Given the description of an element on the screen output the (x, y) to click on. 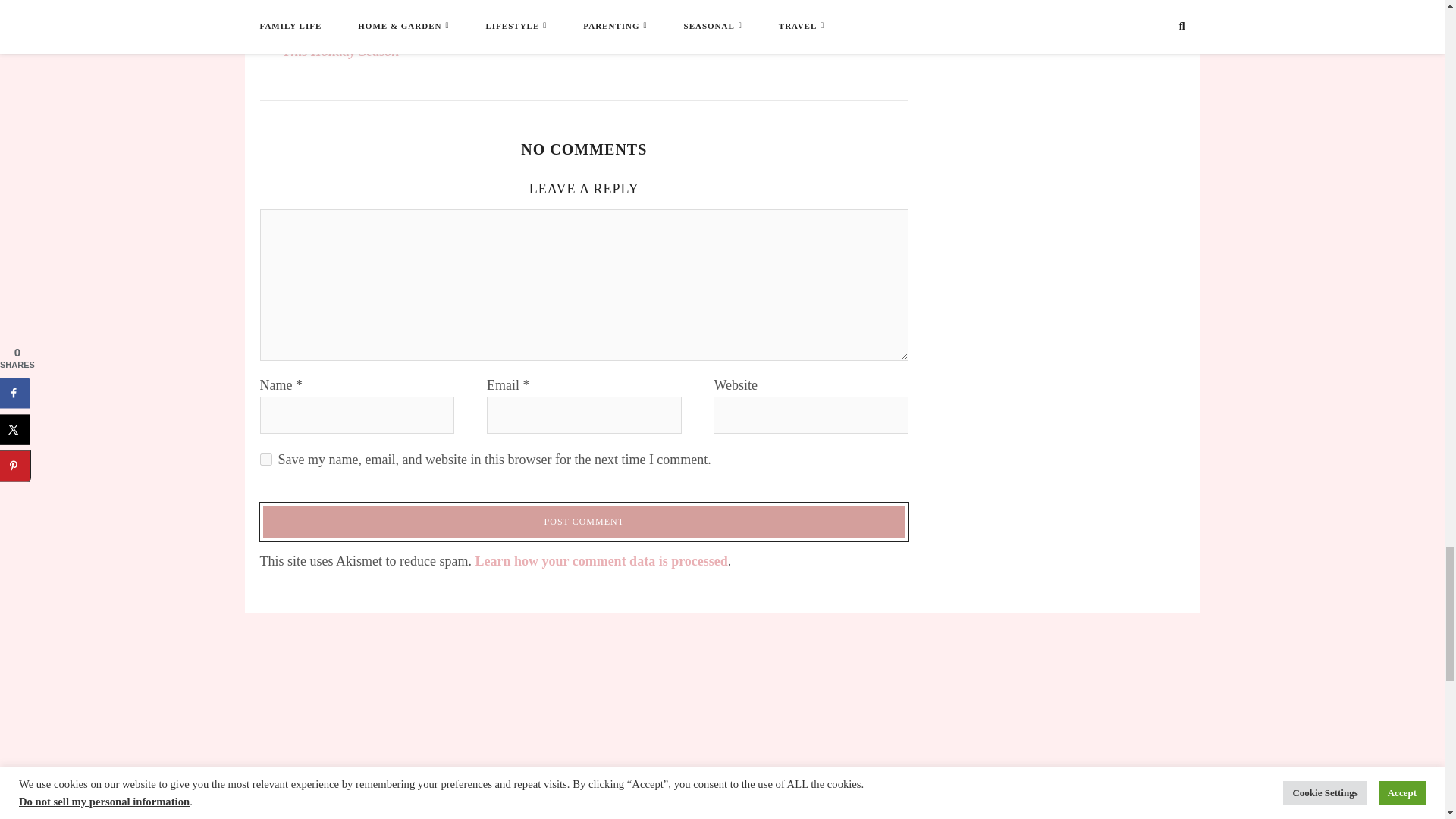
Post Comment (583, 521)
yes (264, 459)
